Given the description of an element on the screen output the (x, y) to click on. 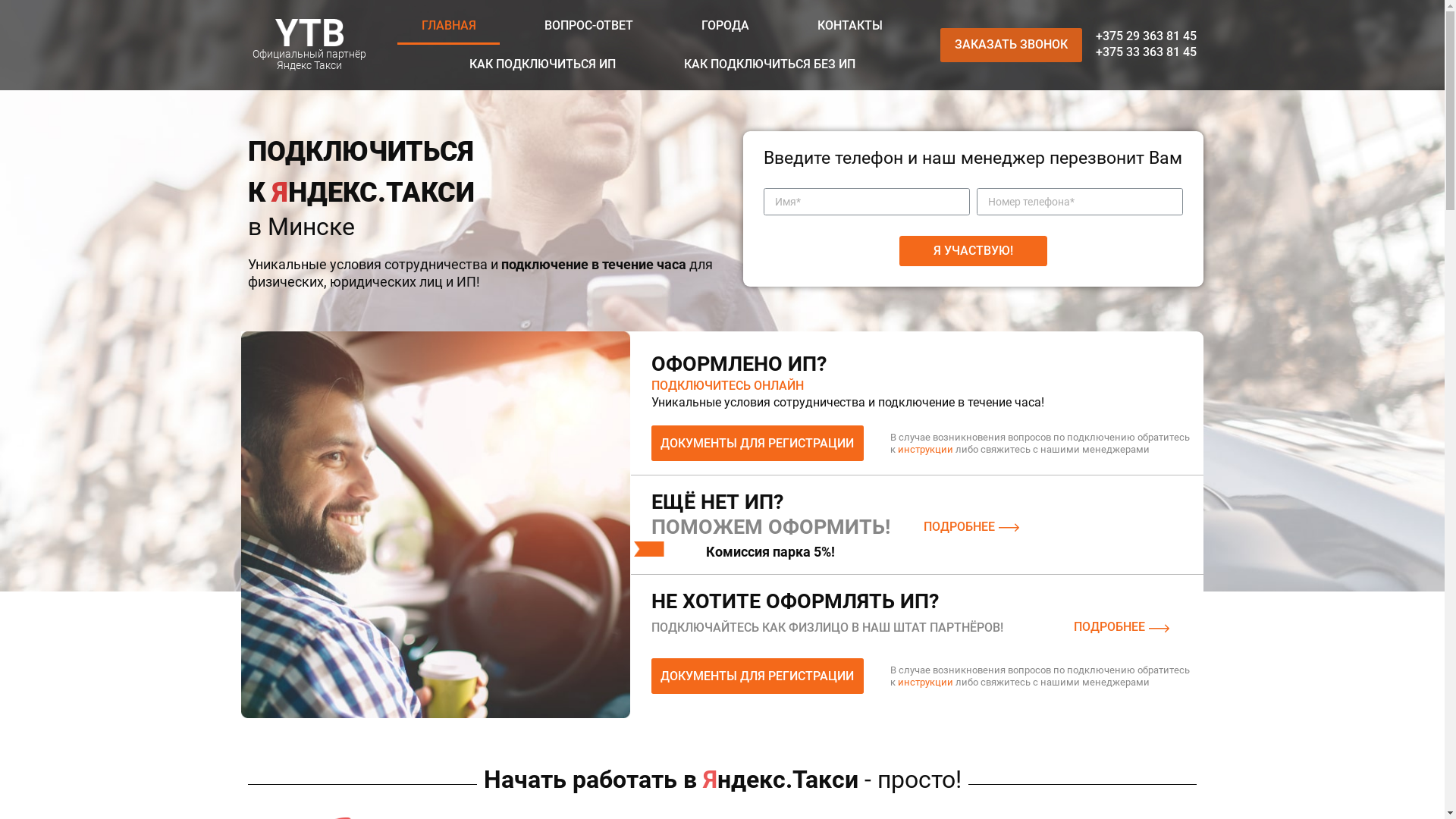
+375 29 363 81 45 Element type: text (1273, 39)
+375 33 363 81 45 Element type: text (1273, 57)
